Given the description of an element on the screen output the (x, y) to click on. 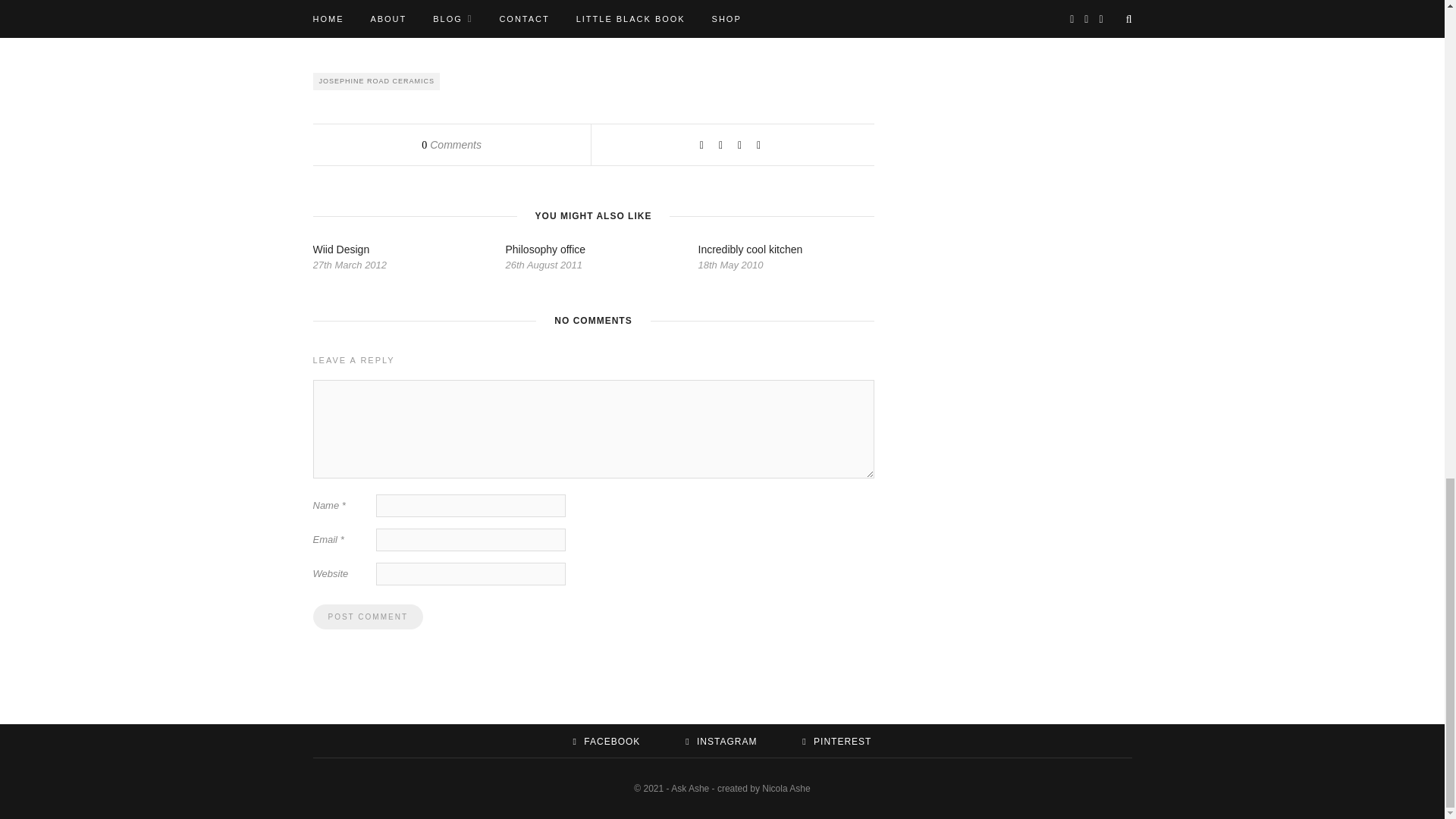
0 Comments (451, 144)
JOSEPHINE ROAD CERAMICS (376, 81)
Philosophy office (545, 249)
Post Comment (367, 616)
Incredibly cool kitchen (749, 249)
Wiid Design (341, 249)
INSTAGRAM (721, 741)
FACEBOOK (606, 741)
Post Comment (367, 616)
